Given the description of an element on the screen output the (x, y) to click on. 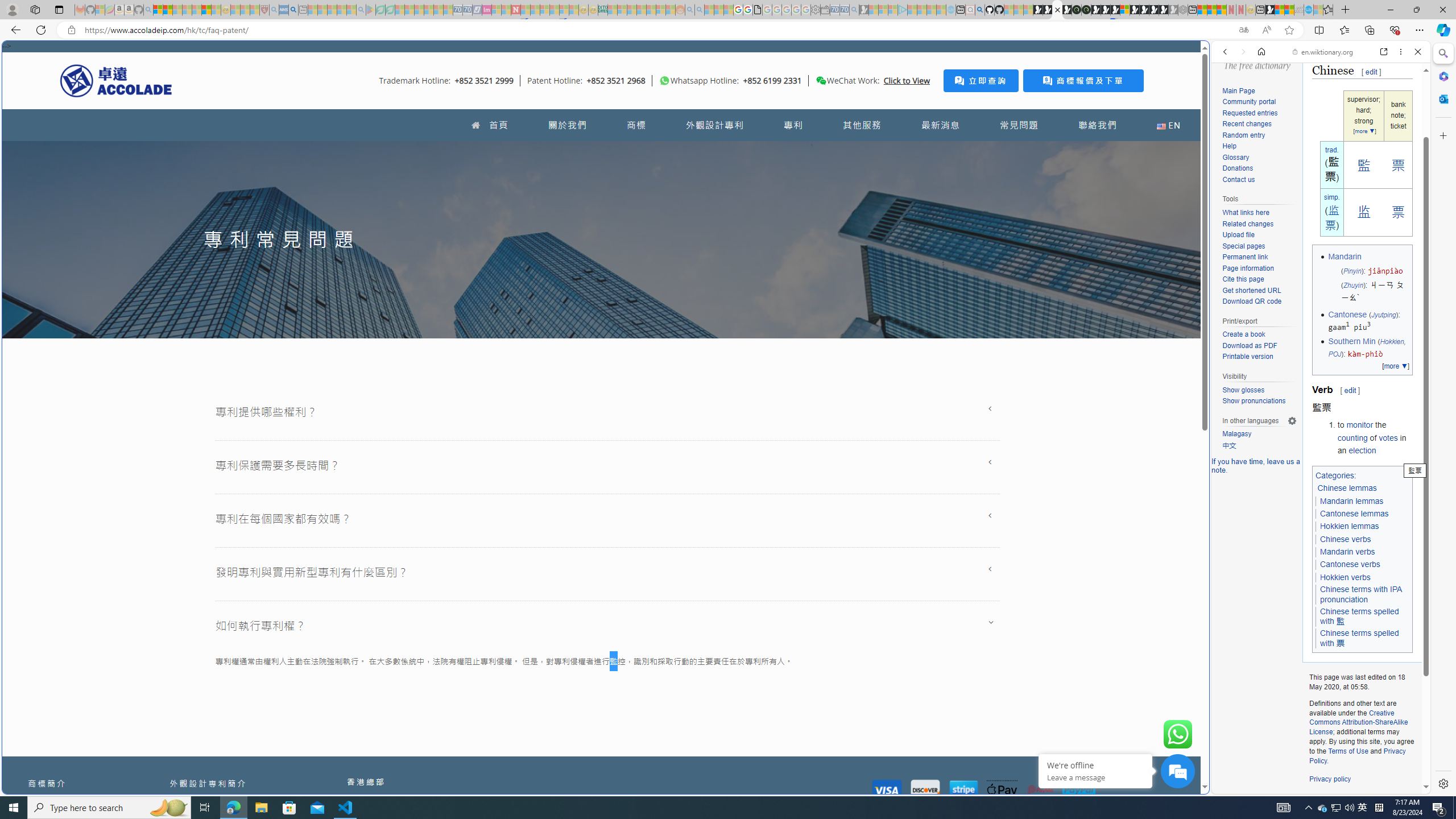
Hokkien lemmas (1349, 526)
Donations (1259, 168)
EN (1168, 124)
Show pronunciations (1259, 401)
Accolade IP HK Logo (116, 80)
Malagasy (1259, 434)
